Given the description of an element on the screen output the (x, y) to click on. 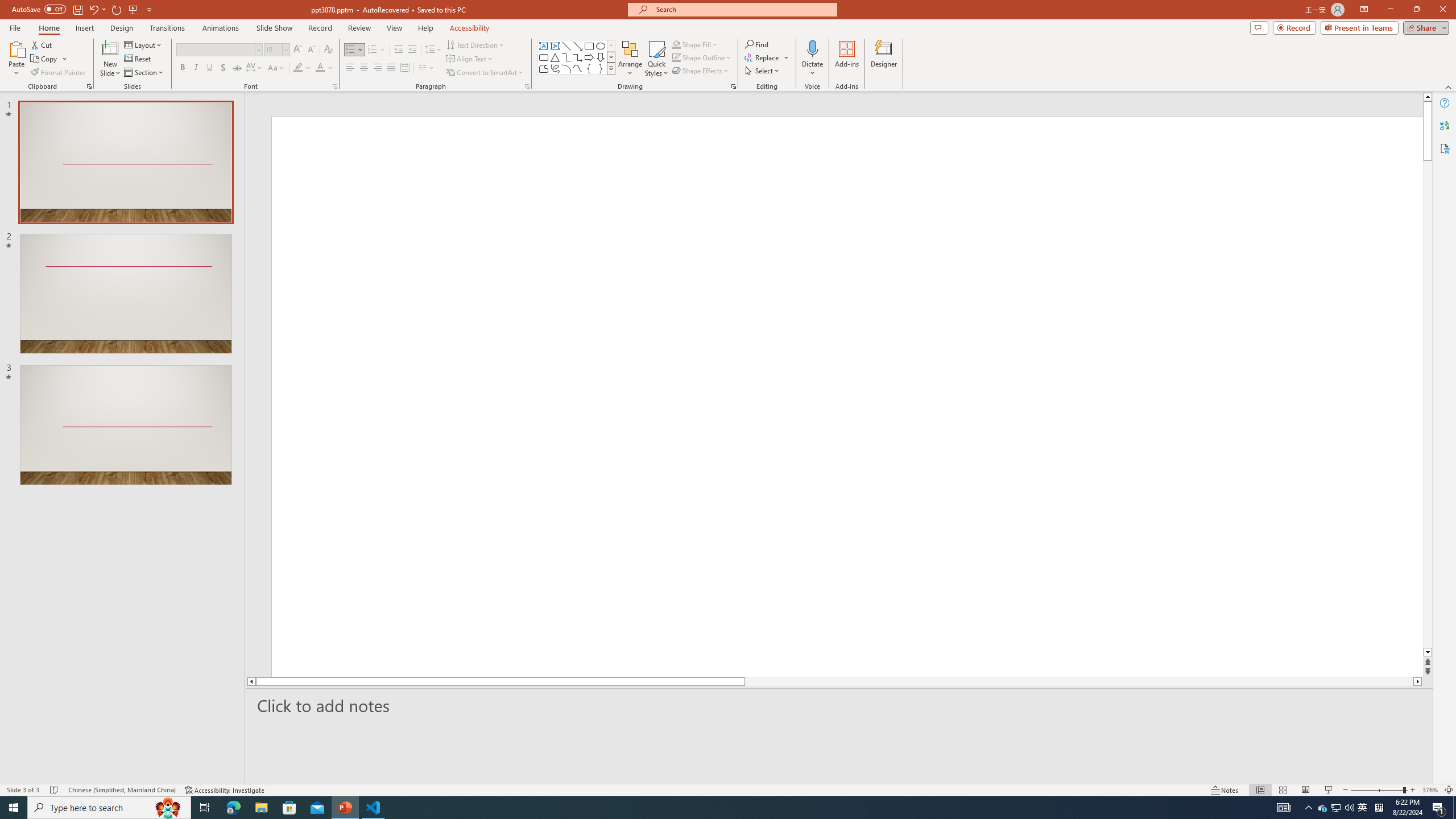
Slide Notes (839, 705)
